Given the description of an element on the screen output the (x, y) to click on. 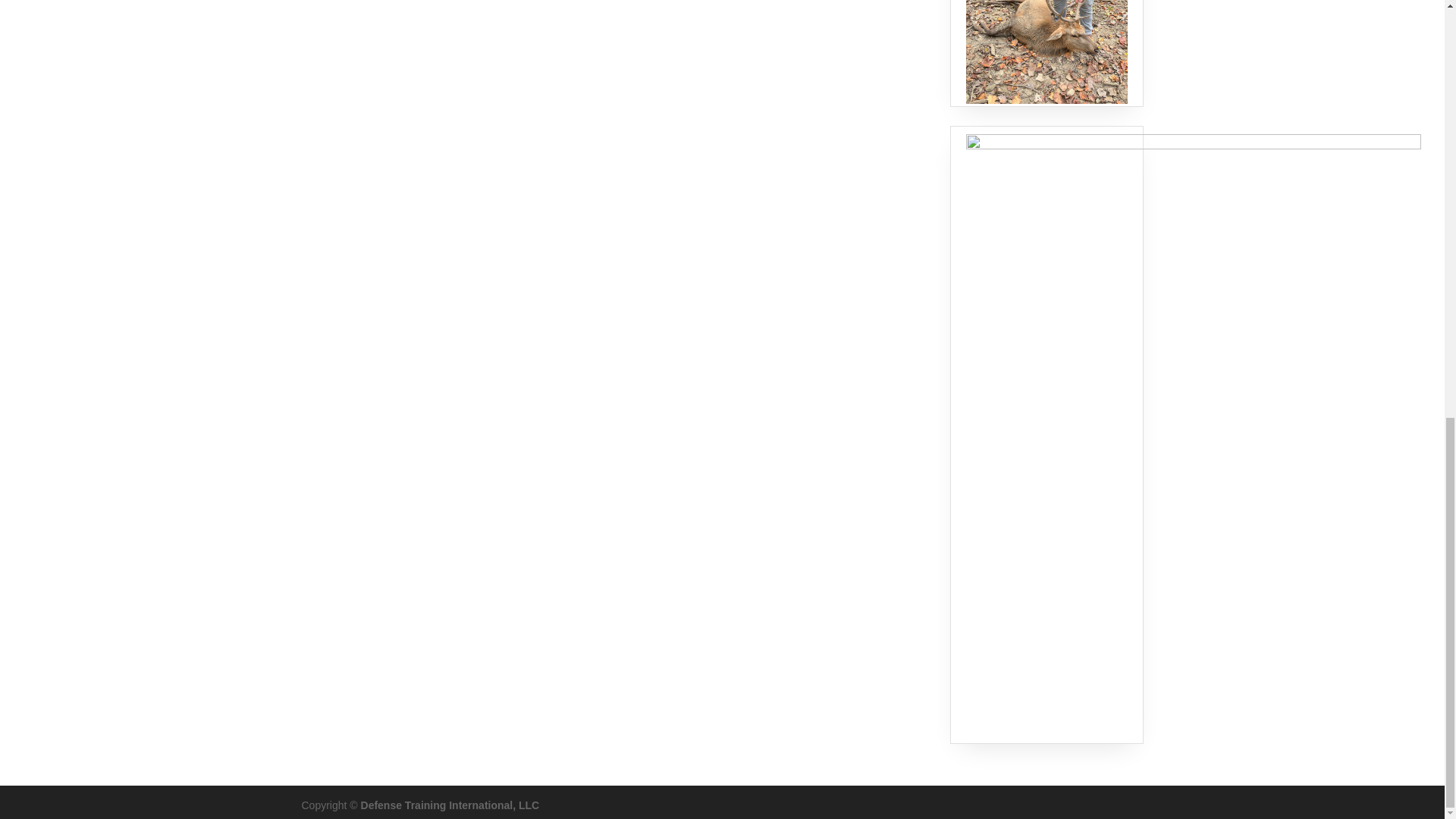
Defense Training International, LLC (449, 805)
